Given the description of an element on the screen output the (x, y) to click on. 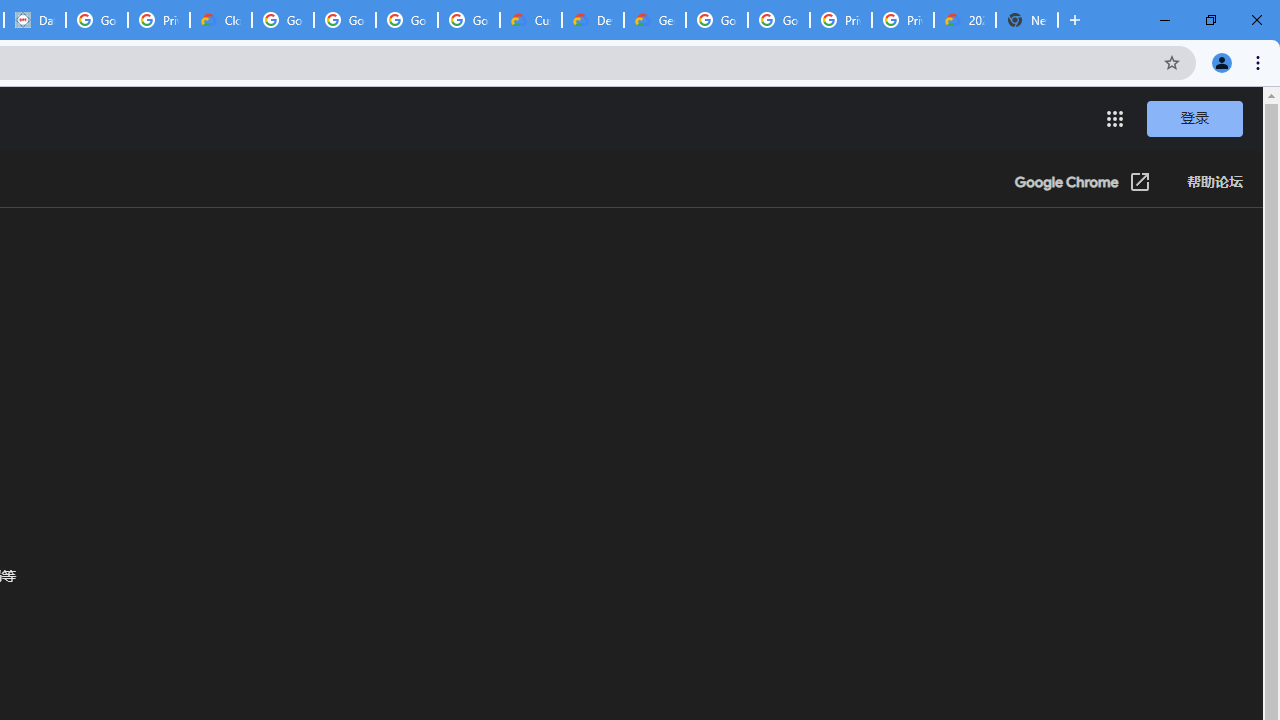
Google Cloud Platform (716, 20)
Google Cloud Platform (778, 20)
Cloud Data Processing Addendum | Google Cloud (220, 20)
Gemini for Business and Developers | Google Cloud (654, 20)
Customer Care | Google Cloud (530, 20)
